Given the description of an element on the screen output the (x, y) to click on. 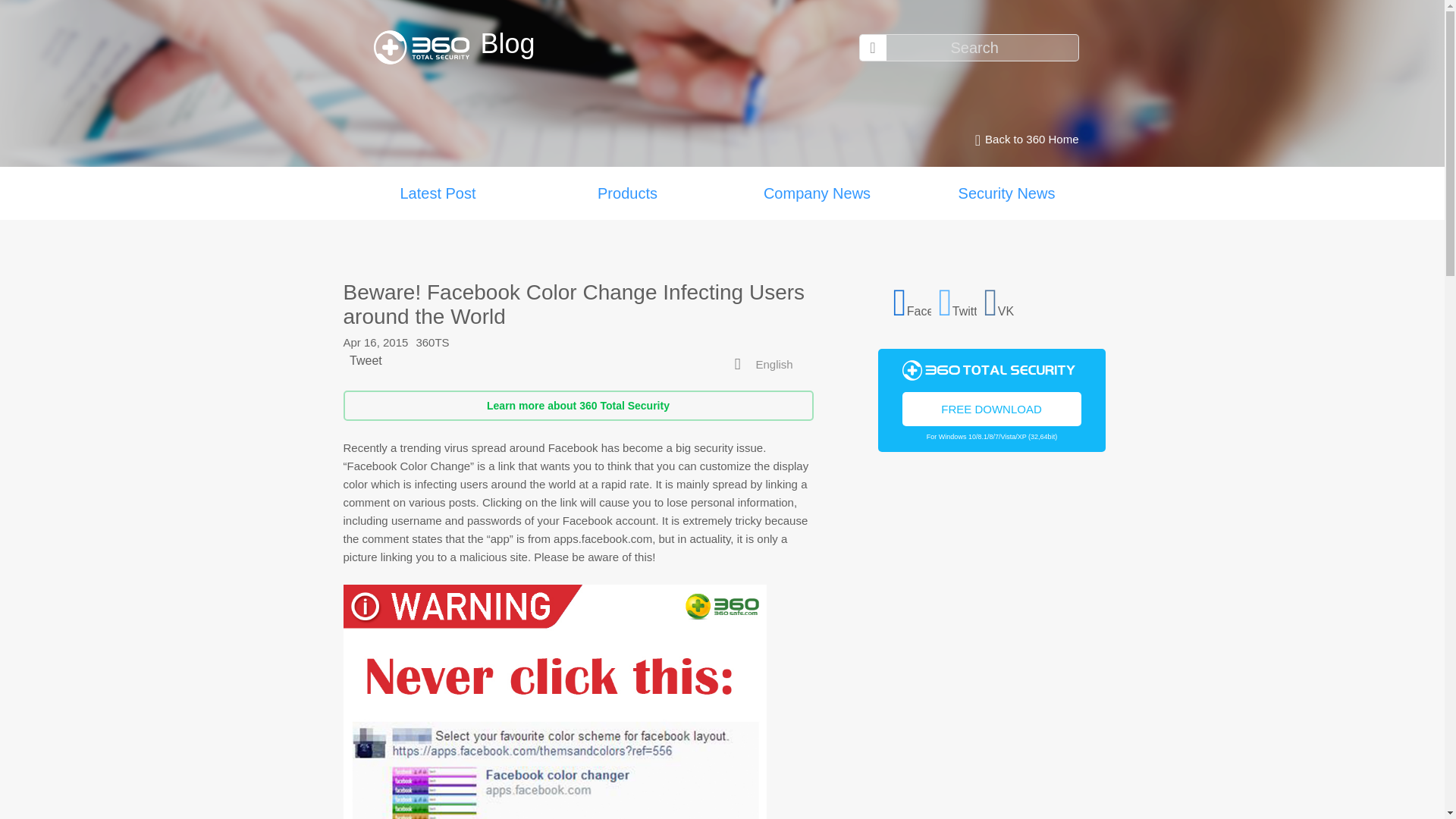
Company News (816, 193)
FREE DOWNLOAD (991, 408)
Learn more about 360 Total Security (577, 405)
Facebook (912, 299)
Products (627, 193)
Advertisement (991, 650)
Free Download (991, 408)
Back to 360 Home (1022, 140)
Learn more about 360 Total Security (577, 405)
Twitter (957, 299)
Security News (1005, 193)
Tweet (365, 359)
Latest Post (437, 193)
360 Total Security Blog Logo (426, 47)
VK (1003, 299)
